Given the description of an element on the screen output the (x, y) to click on. 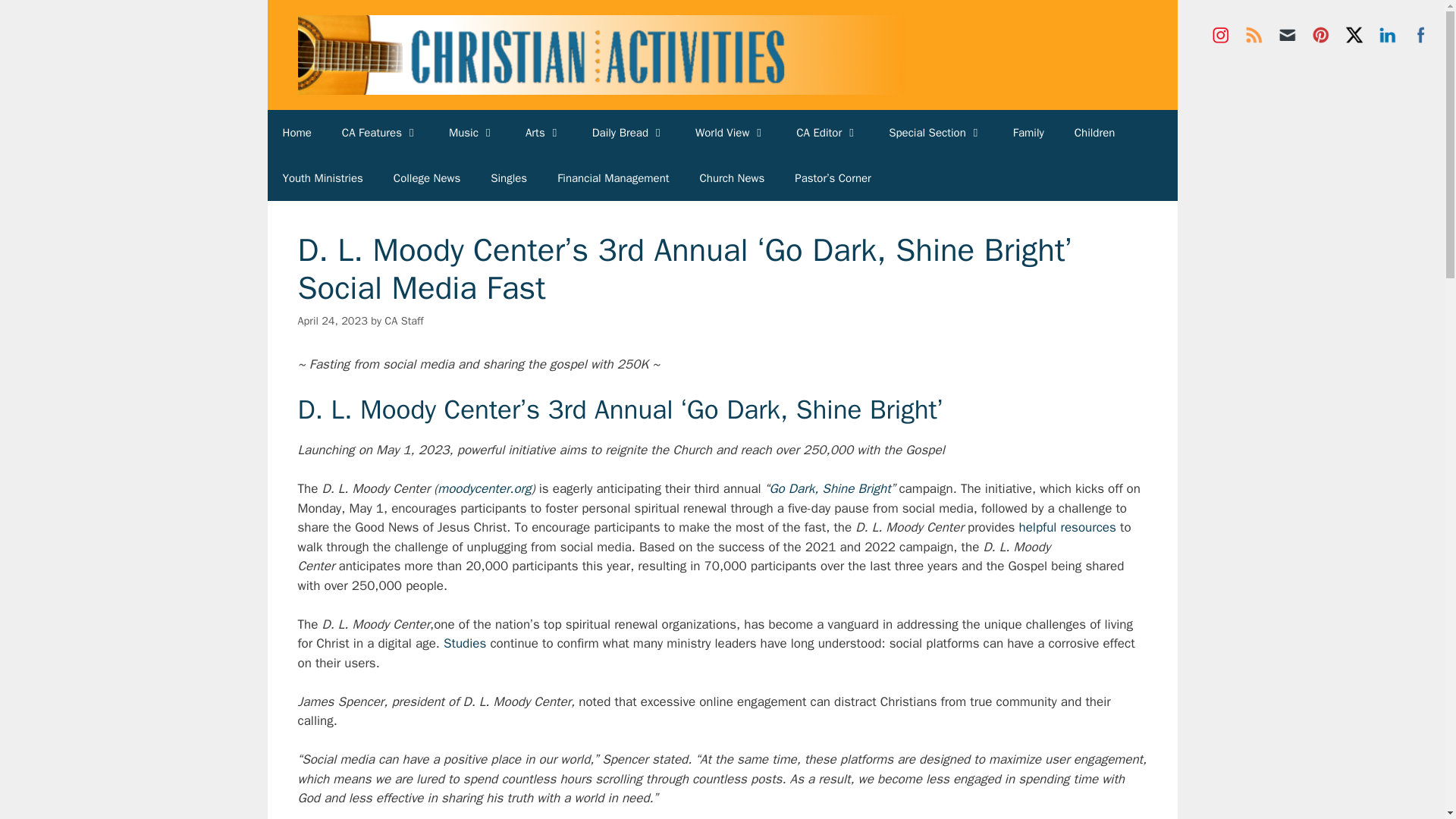
Daily Bread (627, 132)
View all posts by CA Staff (403, 320)
Family (1028, 132)
Children (1095, 132)
Arts (543, 132)
College News (427, 177)
Youth Ministries (321, 177)
Special Section (935, 132)
CA Editor (826, 132)
World View (729, 132)
Home (296, 132)
Music (472, 132)
Singles (508, 177)
CA Features (379, 132)
